Given the description of an element on the screen output the (x, y) to click on. 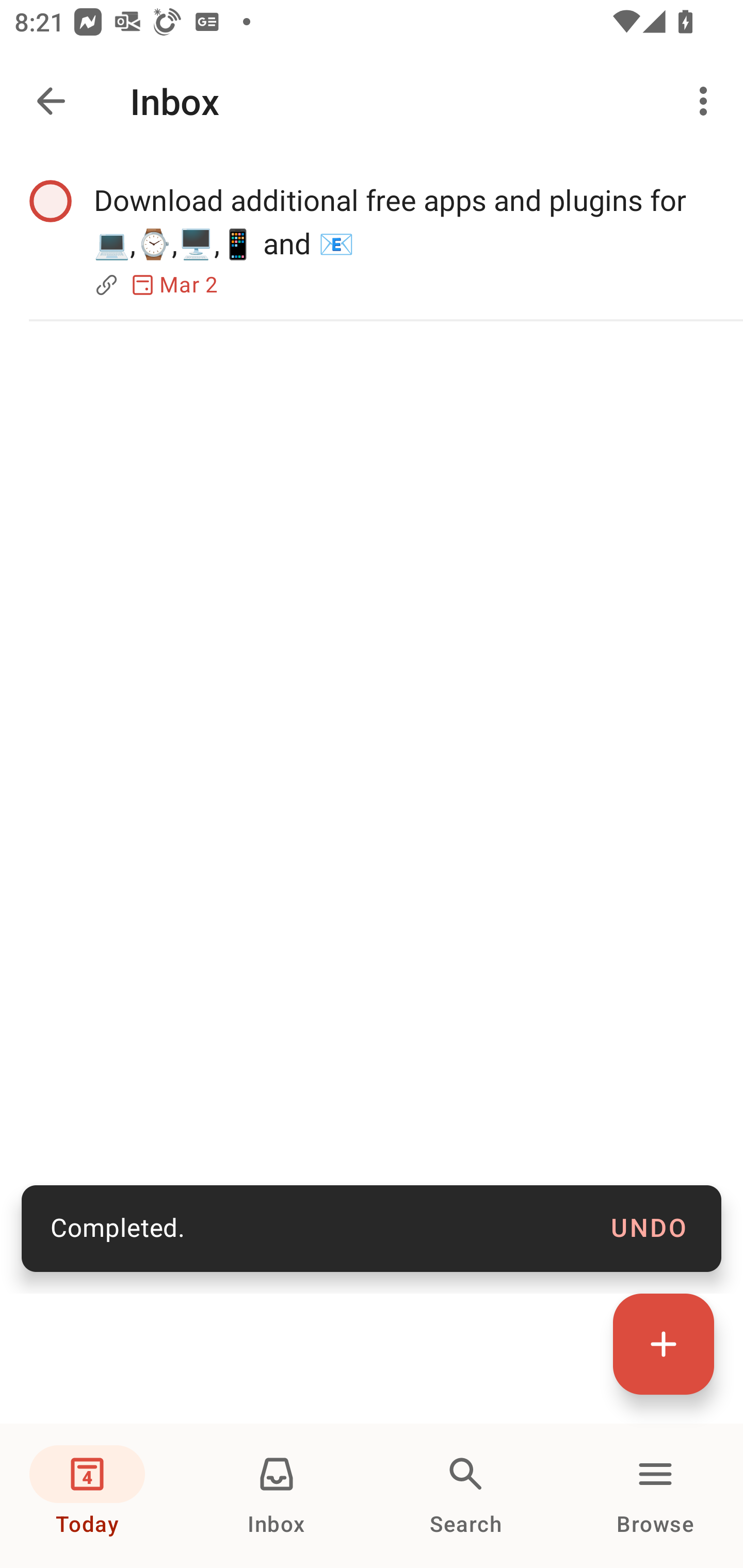
Navigate up Inbox More options (371, 100)
Navigate up (50, 101)
More options (706, 101)
Complete (50, 200)
UNDO (648, 1228)
Quick add (663, 1343)
Inbox (276, 1495)
Search (465, 1495)
Browse (655, 1495)
